Given the description of an element on the screen output the (x, y) to click on. 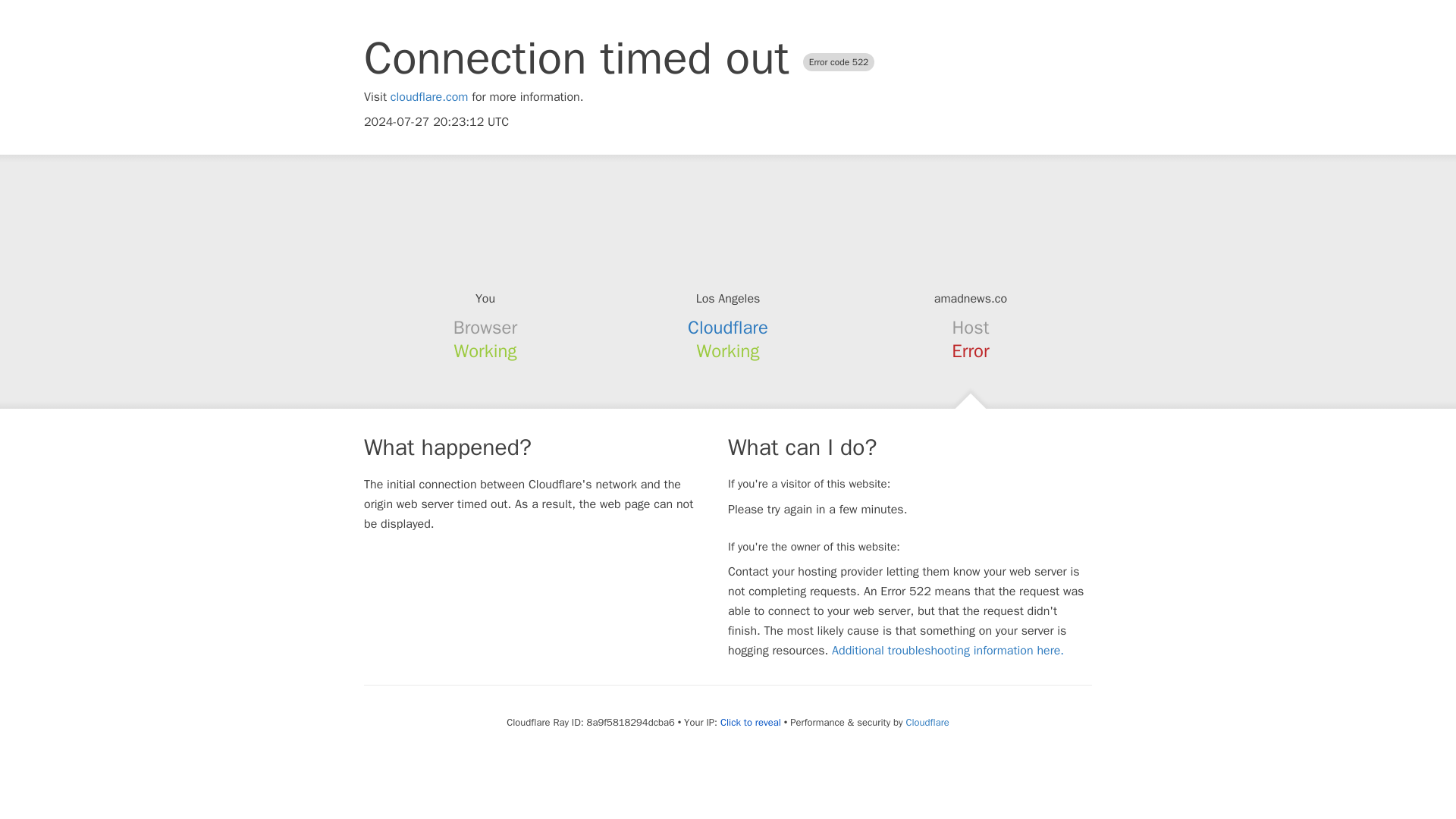
Click to reveal (750, 722)
Cloudflare (927, 721)
cloudflare.com (429, 96)
Additional troubleshooting information here. (947, 650)
Cloudflare (727, 327)
